Given the description of an element on the screen output the (x, y) to click on. 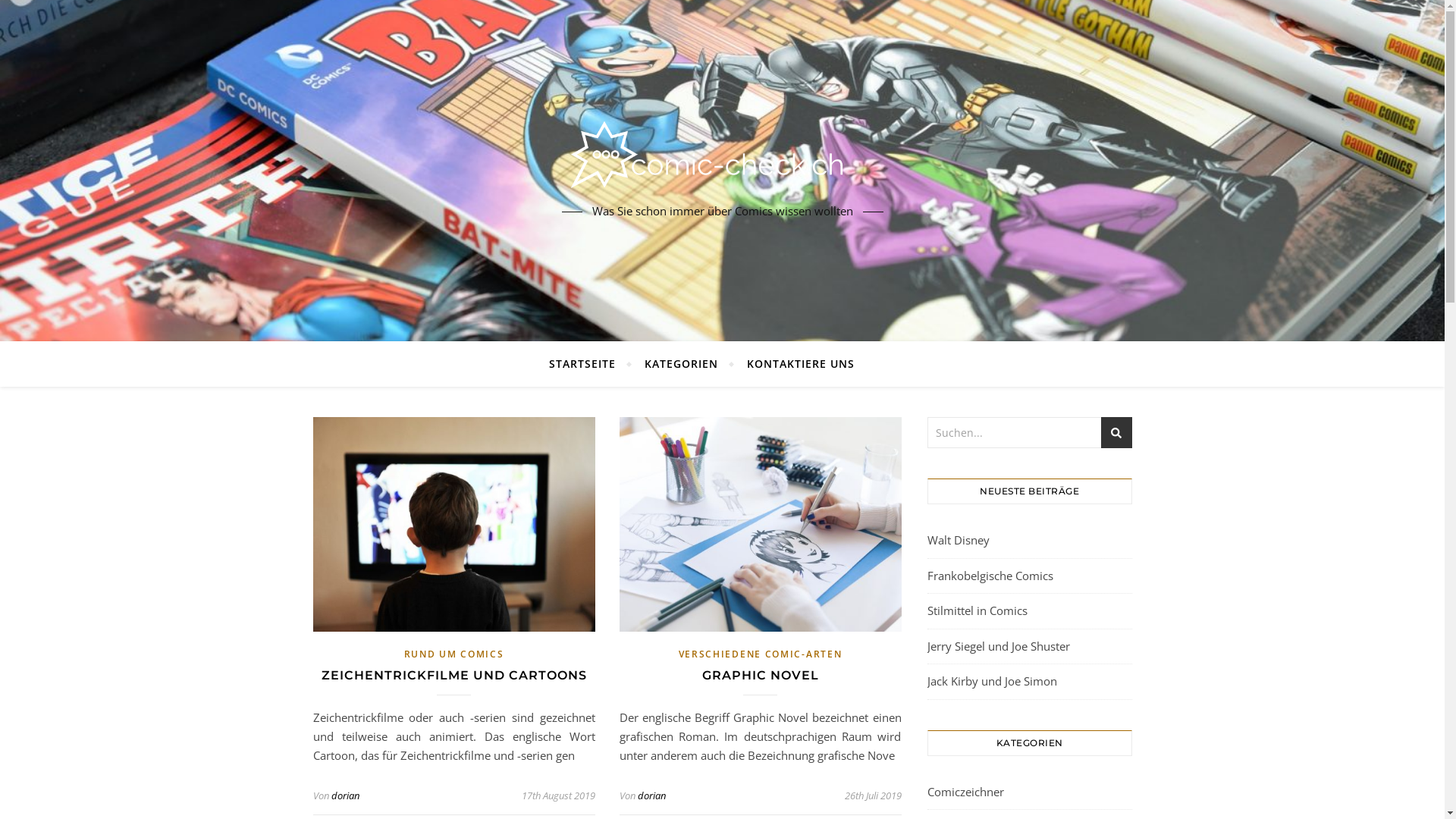
STARTSEITE Element type: text (588, 363)
KONTAKTIERE UNS Element type: text (794, 363)
Stilmittel in Comics Element type: text (976, 610)
Jack Kirby und Joe Simon Element type: text (991, 680)
st Element type: text (1116, 432)
VERSCHIEDENE COMIC-ARTEN Element type: text (760, 653)
Walt Disney Element type: text (957, 539)
Comic-check.ch Element type: hover (721, 157)
RUND UM COMICS Element type: text (454, 653)
dorian Element type: text (344, 795)
dorian Element type: text (651, 795)
Frankobelgische Comics Element type: text (989, 574)
KATEGORIEN Element type: text (680, 363)
Jerry Siegel und Joe Shuster Element type: text (997, 645)
ZEICHENTRICKFILME UND CARTOONS Element type: text (453, 675)
Comiczeichner Element type: text (964, 791)
GRAPHIC NOVEL Element type: text (760, 675)
